Given the description of an element on the screen output the (x, y) to click on. 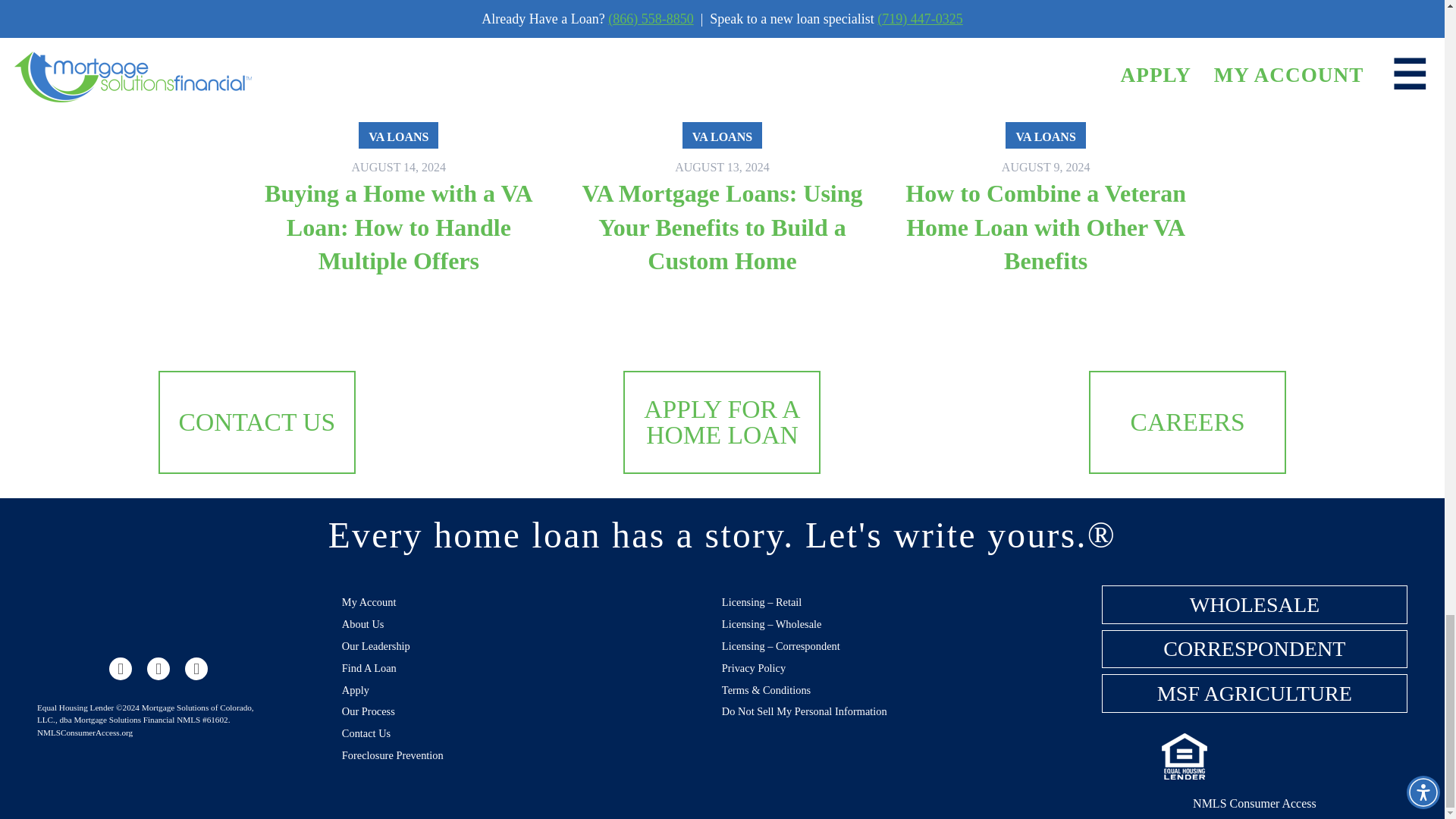
Read more (1045, 227)
Read more (721, 143)
APPLY FOR A HOME LOAN (721, 422)
Read more (1045, 143)
How to Combine a Veteran Home Loan with Other VA Benefits (1045, 227)
Read more (398, 143)
CONTACT US (256, 421)
VA LOANS (721, 135)
Buying a Home with a VA Loan: How to Handle Multiple Offers (398, 227)
